Given the description of an element on the screen output the (x, y) to click on. 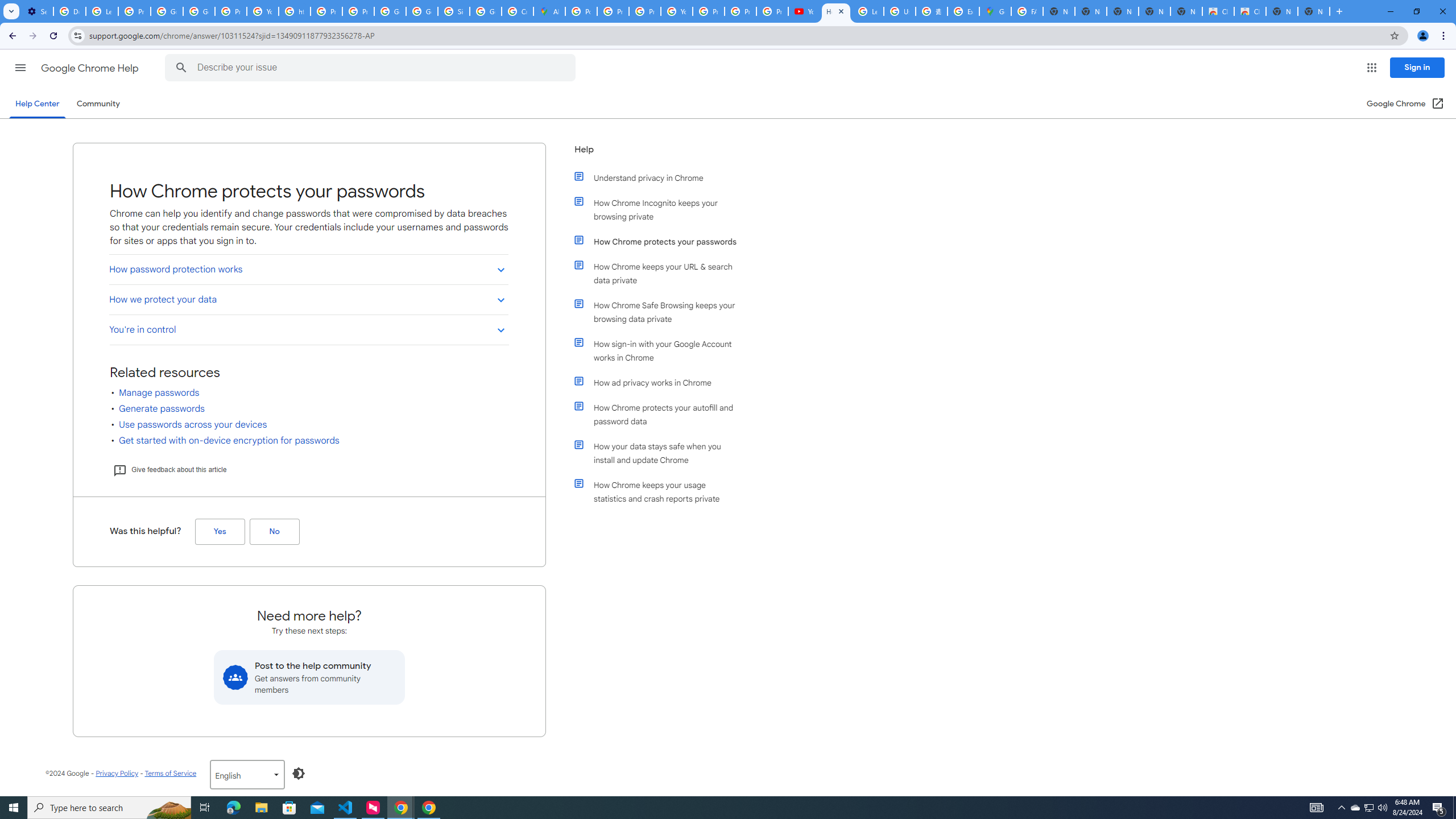
Community (97, 103)
Google Chrome Help (90, 68)
Help Center (36, 103)
Privacy Help Center - Policies Help (326, 11)
Generate passwords (162, 408)
How Chrome protects your passwords - Google Chrome Help (836, 11)
Sign in - Google Accounts (453, 11)
Search Help Center (181, 67)
